Given the description of an element on the screen output the (x, y) to click on. 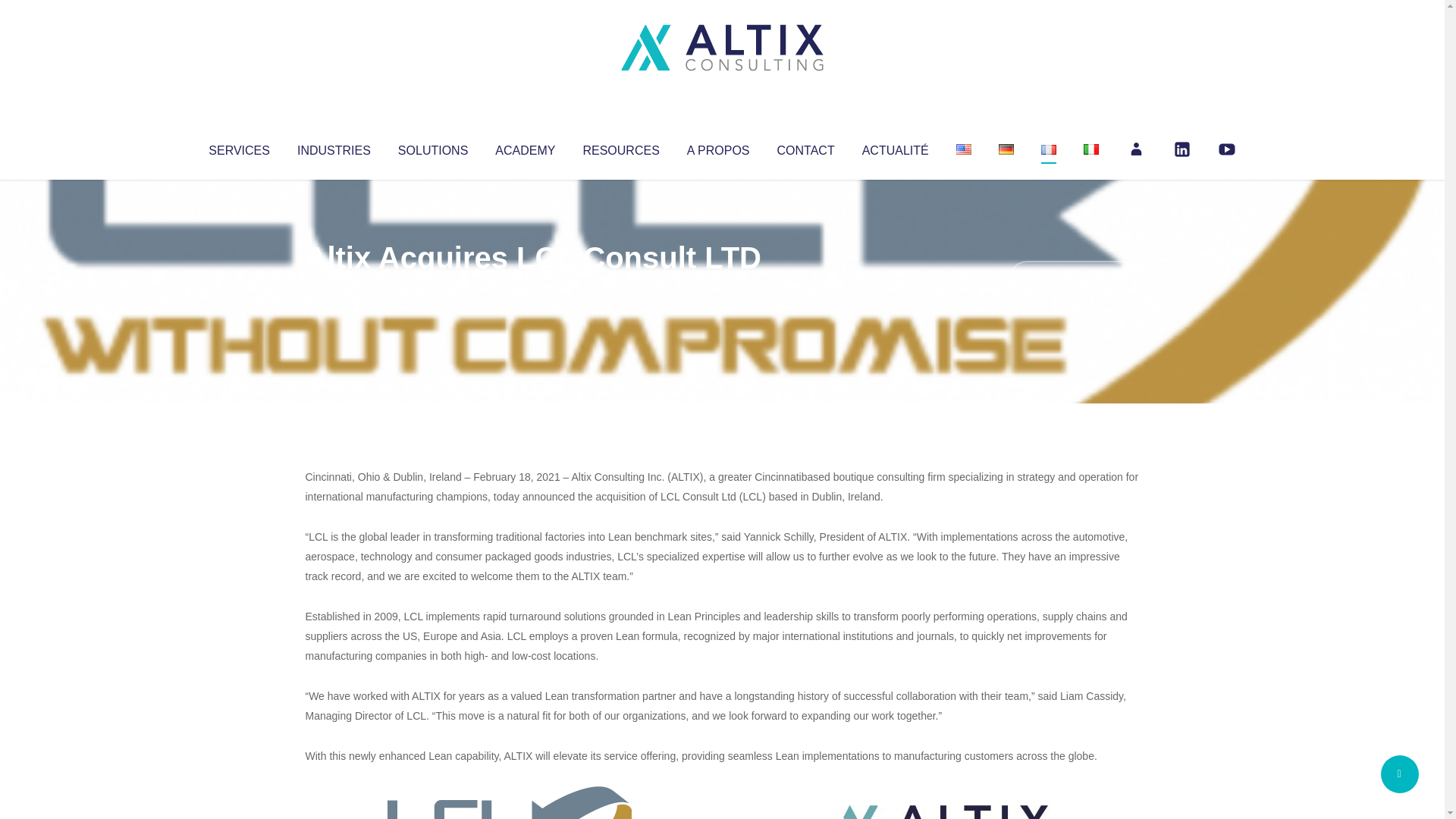
SERVICES (238, 146)
INDUSTRIES (334, 146)
Uncategorized (530, 287)
ACADEMY (524, 146)
SOLUTIONS (432, 146)
Articles par Altix (333, 287)
A PROPOS (718, 146)
RESOURCES (620, 146)
No Comments (1073, 278)
Altix (333, 287)
